Given the description of an element on the screen output the (x, y) to click on. 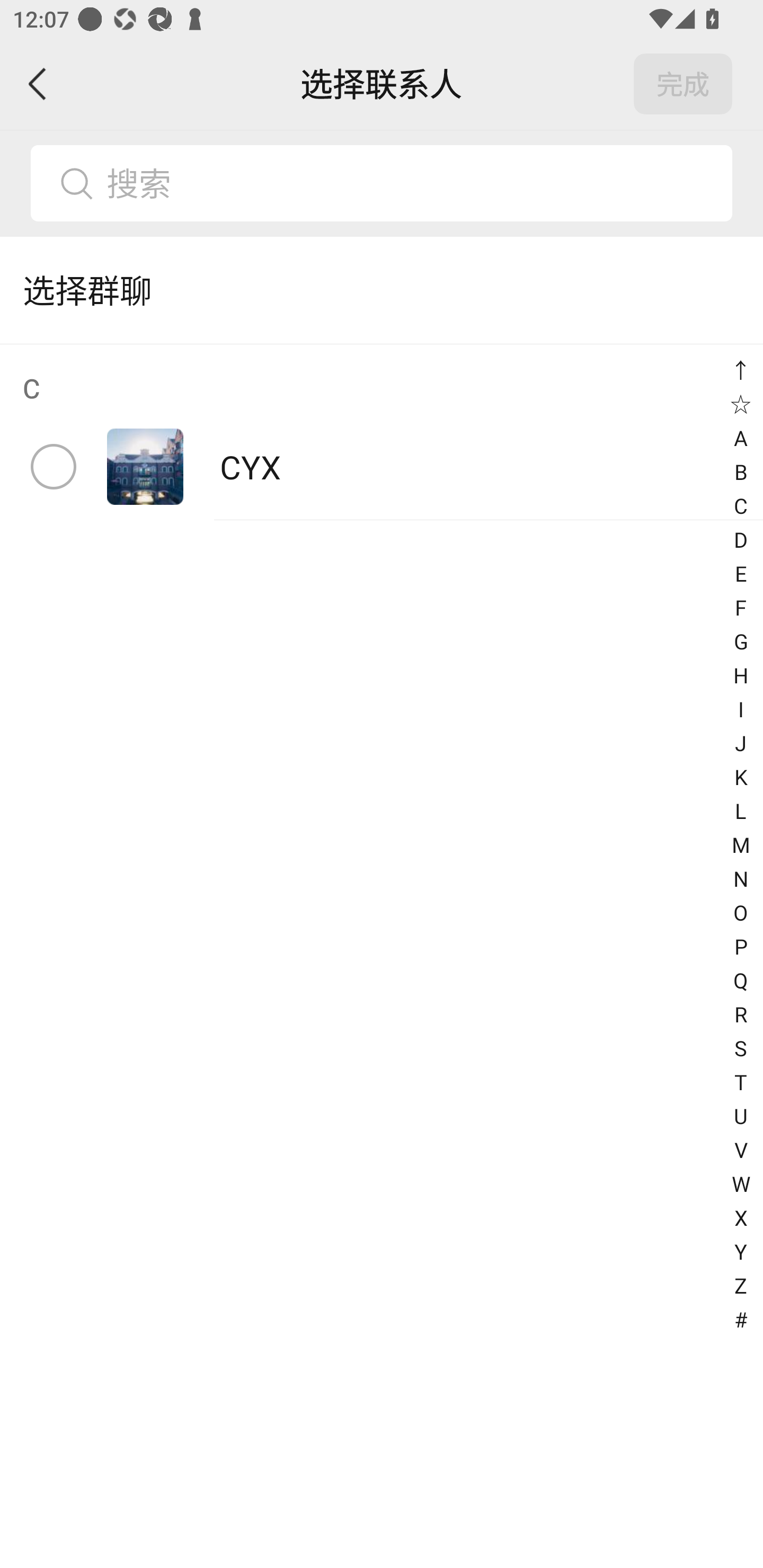
返回 (38, 83)
完成 (683, 83)
搜索 (381, 183)
搜索 (411, 183)
选择群聊 (381, 290)
C CYX (381, 432)
